Given the description of an element on the screen output the (x, y) to click on. 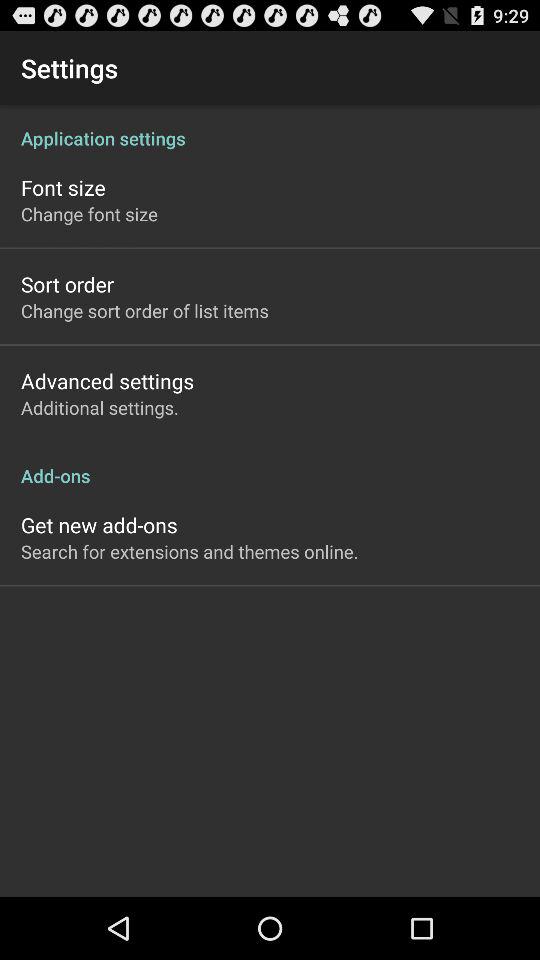
turn off additional settings. icon (99, 407)
